Given the description of an element on the screen output the (x, y) to click on. 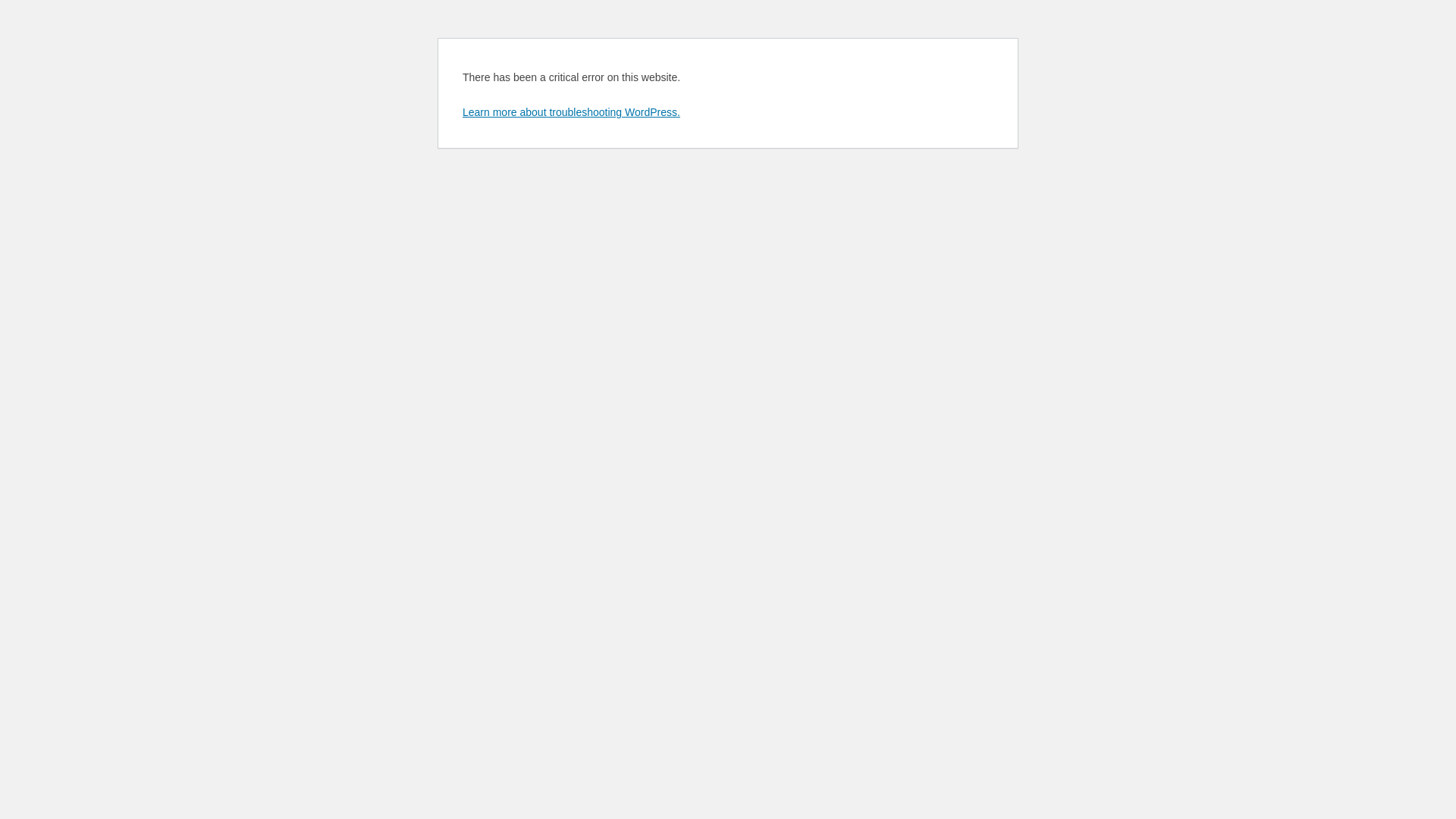
Learn more about troubleshooting WordPress. Element type: text (571, 112)
